Given the description of an element on the screen output the (x, y) to click on. 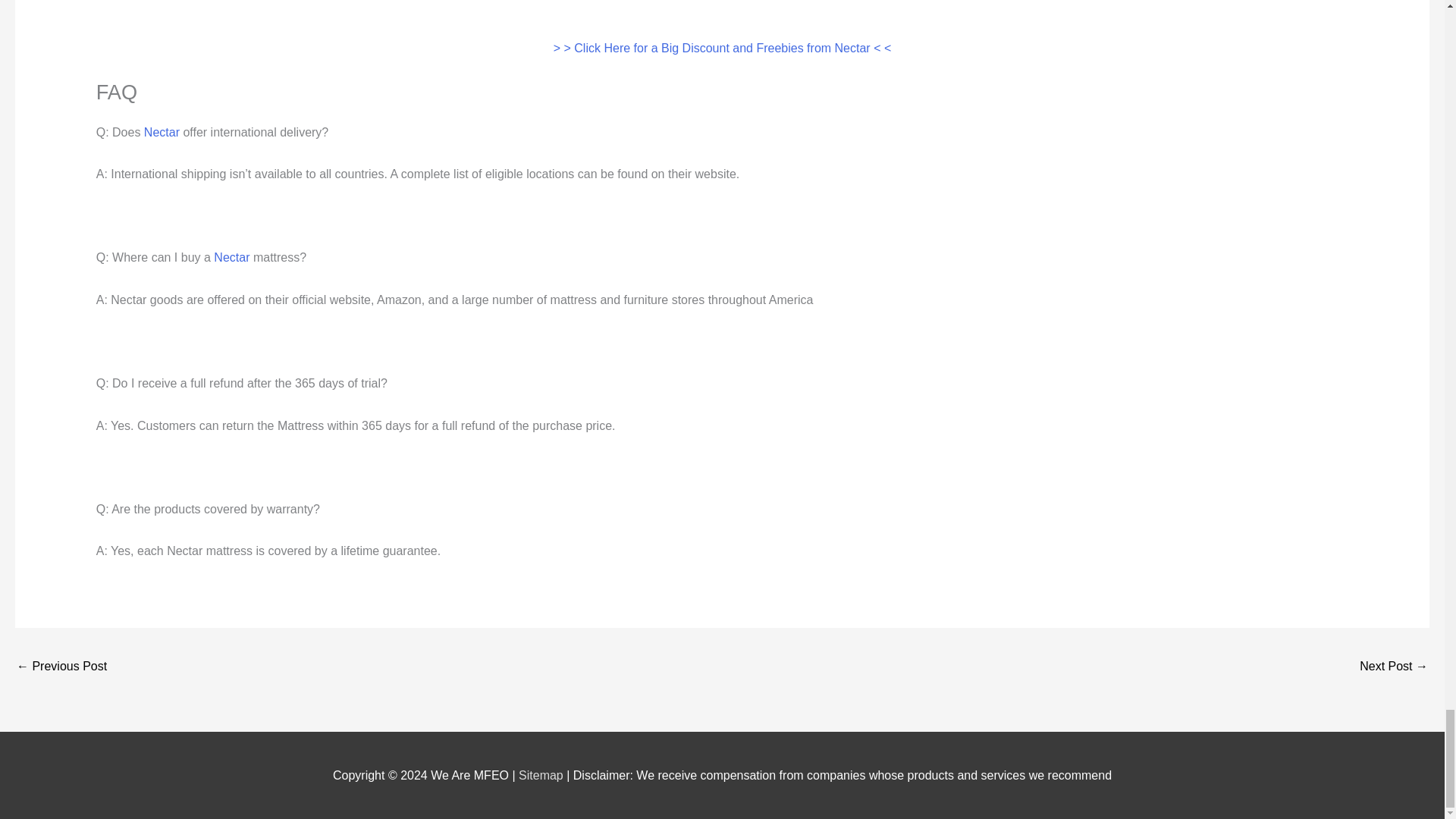
The Nectar Mattress Is So Hard (61, 667)
Sitemap (542, 775)
Nectar (231, 256)
Nectar (161, 132)
